Given the description of an element on the screen output the (x, y) to click on. 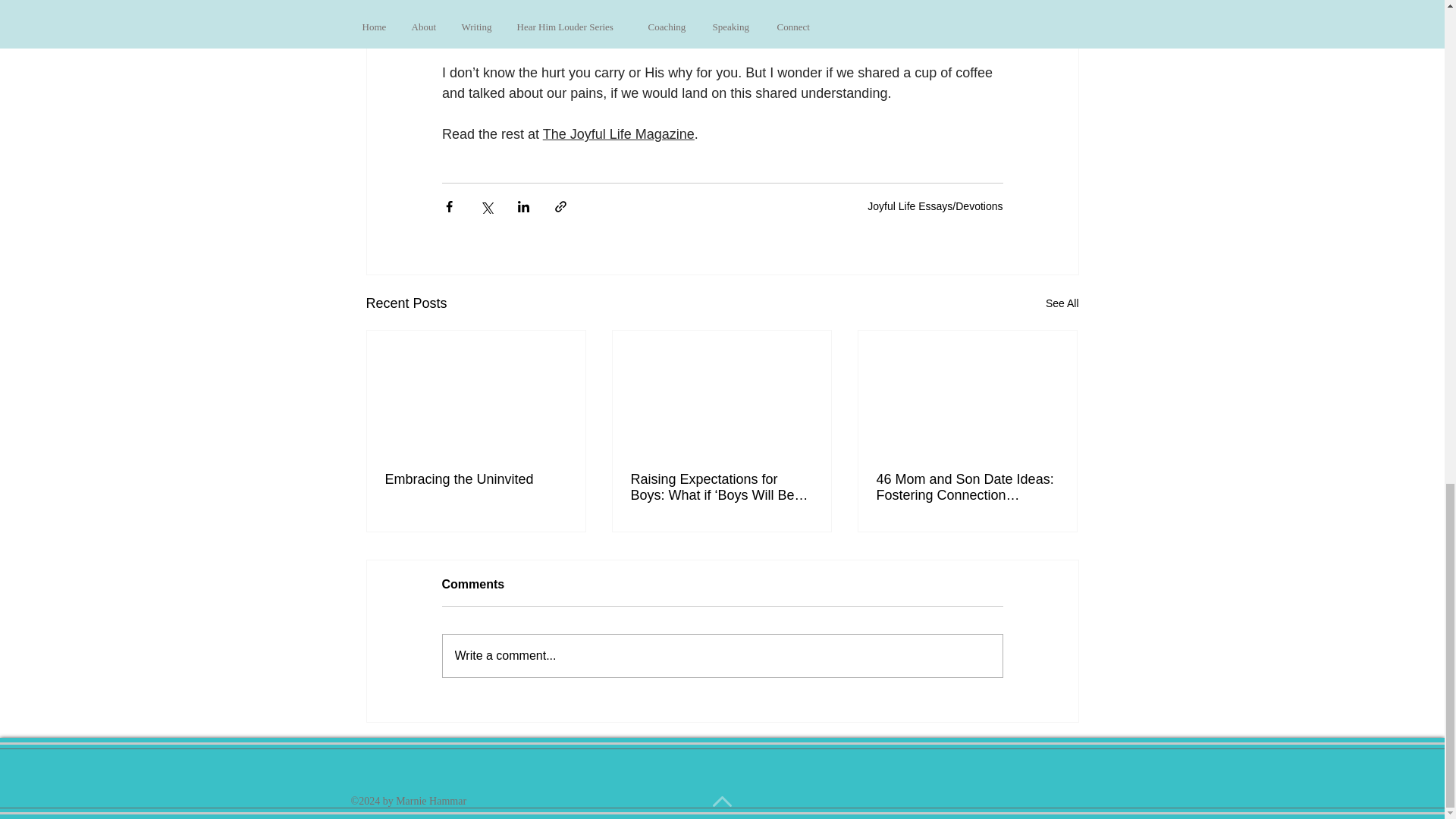
Embracing the Uninvited (476, 479)
See All (1061, 303)
The Joyful Life Magazine (617, 133)
Write a comment... (722, 655)
